Given the description of an element on the screen output the (x, y) to click on. 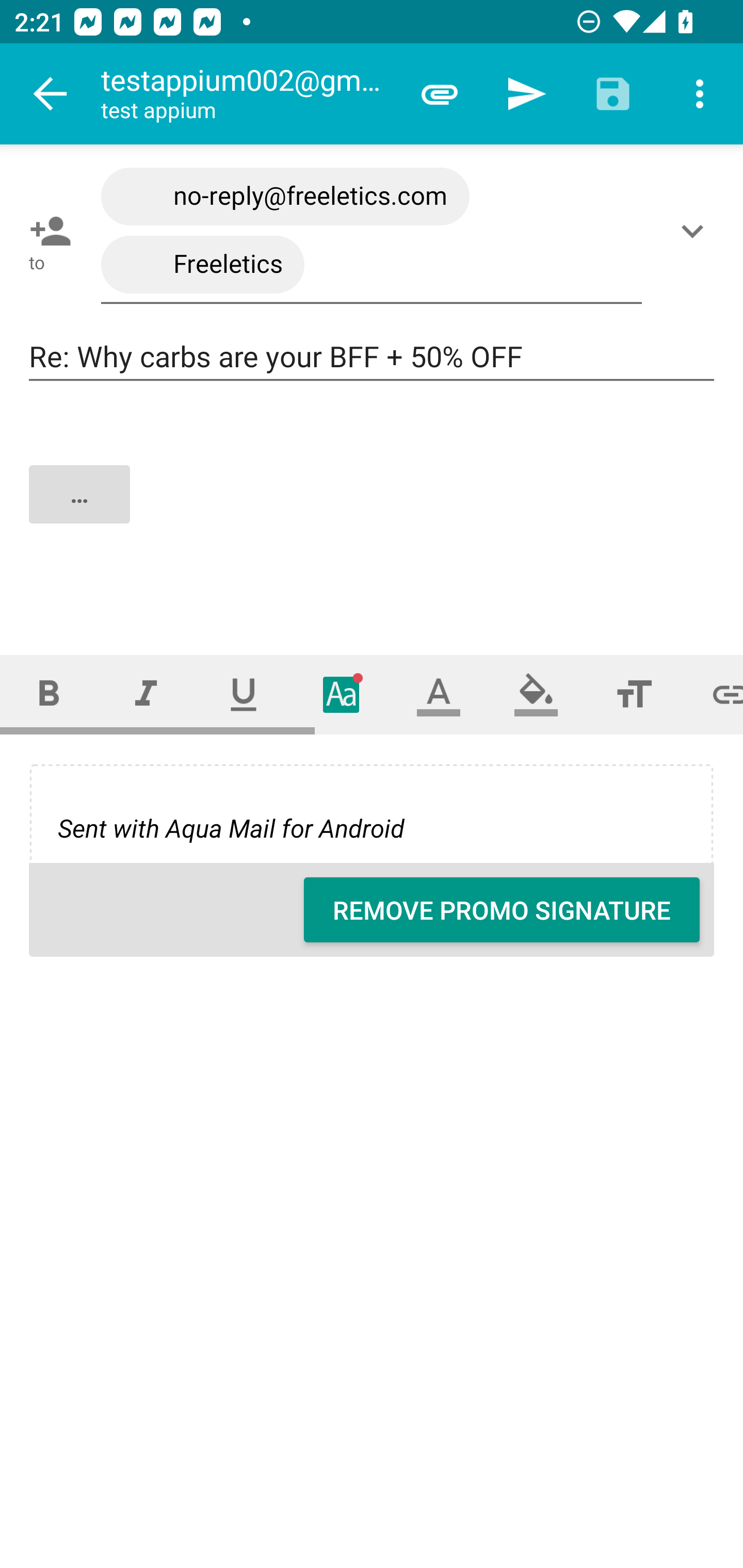
Navigate up (50, 93)
testappium002@gmail.com test appium (248, 93)
Attach (439, 93)
Send (525, 93)
Save (612, 93)
More options (699, 93)
Pick contact: To (46, 231)
Show/Add CC/BCC (696, 231)
Re: Why carbs are your BFF + 50% OFF (371, 356)

…
 (372, 511)
Bold (48, 694)
Italic (145, 694)
Underline (243, 694)
Typeface (font) (341, 694)
Text color (438, 694)
Fill color (536, 694)
Font size (633, 694)
REMOVE PROMO SIGNATURE (501, 910)
